Given the description of an element on the screen output the (x, y) to click on. 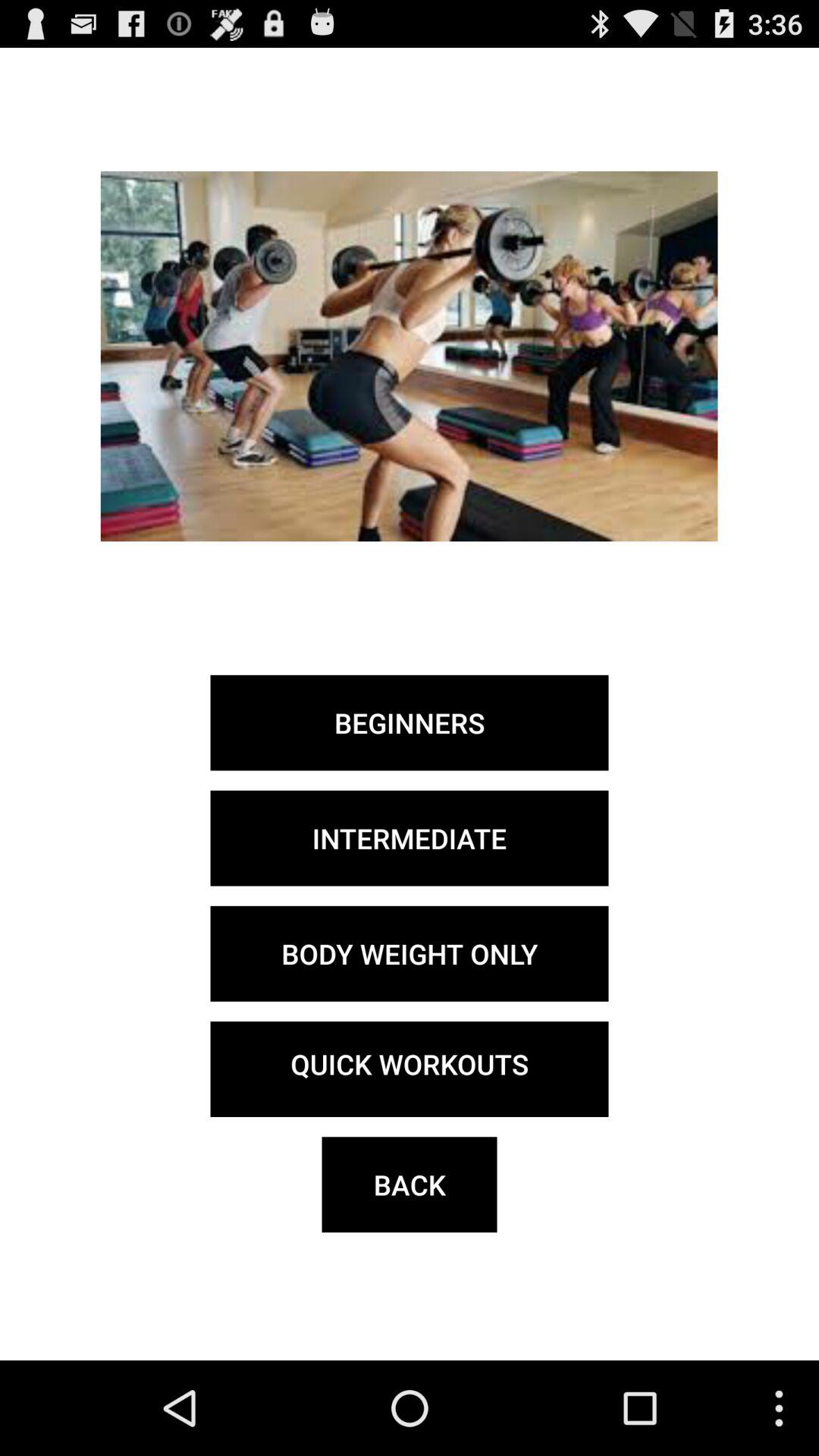
open the intermediate item (409, 838)
